Given the description of an element on the screen output the (x, y) to click on. 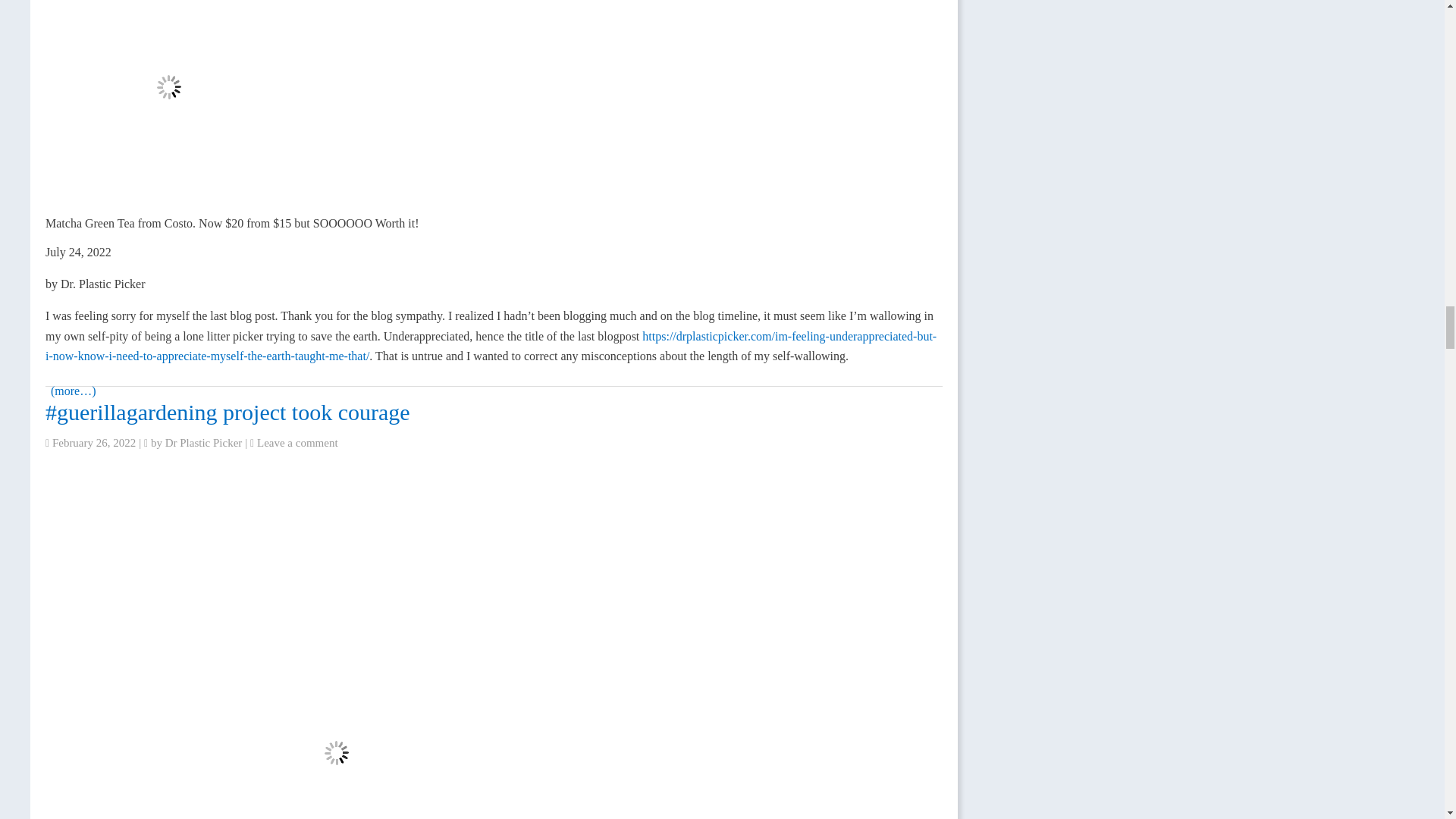
Leave a comment (297, 442)
Dr Plastic Picker (204, 442)
